Given the description of an element on the screen output the (x, y) to click on. 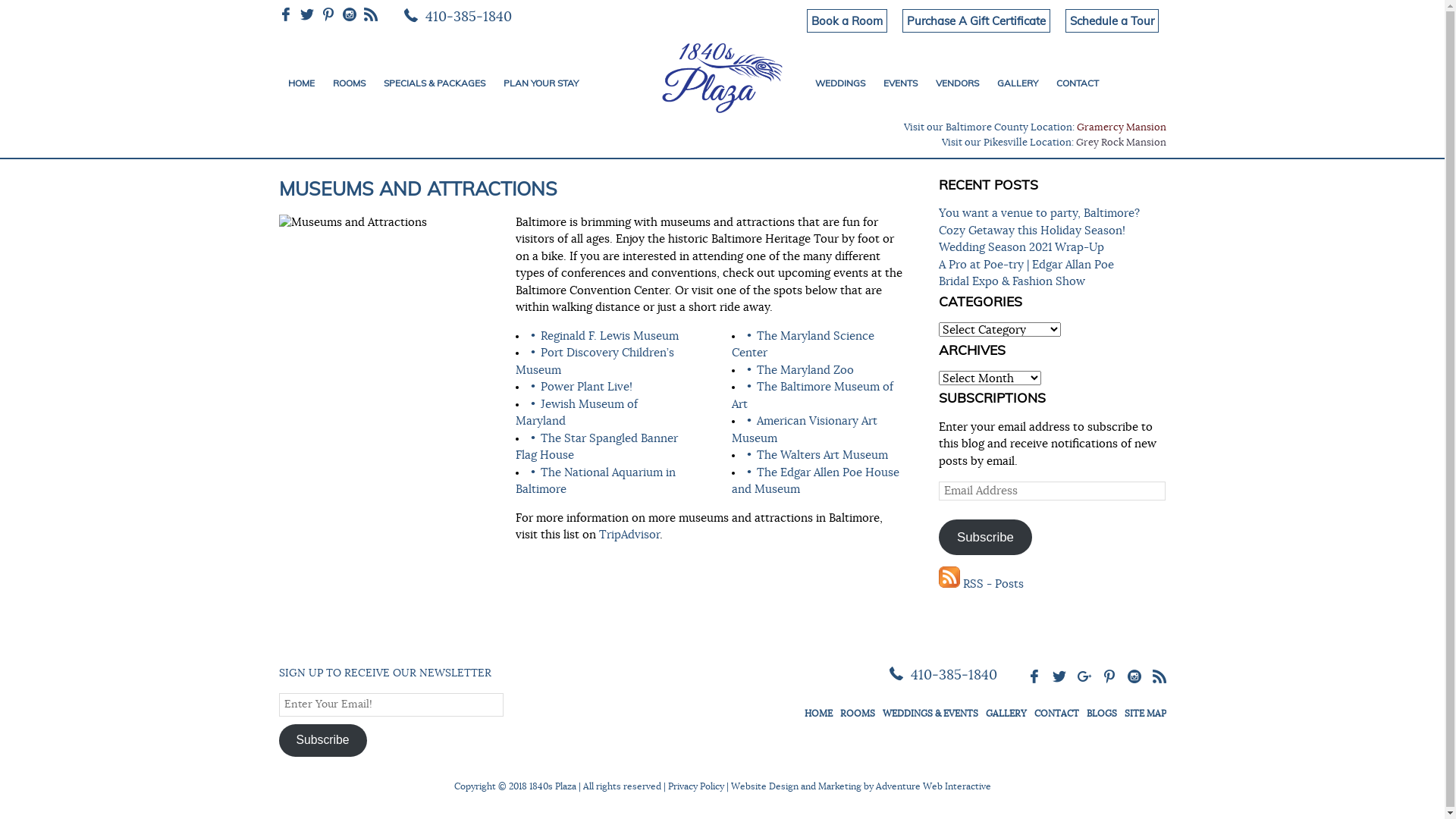
Subscribe Element type: text (985, 537)
EVENTS Element type: text (899, 83)
ROOMS Element type: text (348, 83)
Jewish Museum of Maryland Element type: text (576, 412)
Schedule a Tour Element type: text (1110, 20)
Wedding Season 2021 Wrap-Up Element type: text (1021, 247)
WEDDINGS Element type: text (839, 83)
PLAN YOUR STAY Element type: text (540, 83)
Power Plant Live! Element type: text (586, 386)
Visit our Pikesville Location: Grey Rock Mansion Element type: text (1053, 142)
MUSEUMS AND ATTRACTIONS Element type: text (418, 188)
SPECIALS & PACKAGES Element type: text (434, 83)
 RSS - Posts Element type: text (980, 583)
The Star Spangled Banner Flag House Element type: text (596, 446)
Cozy Getaway this Holiday Season! Element type: text (1031, 230)
American Visionary Art Museum Element type: text (804, 429)
ROOMS Element type: text (857, 712)
HOME Element type: text (817, 712)
CONTACT Element type: text (1076, 83)
The Walters Art Museum Element type: text (822, 455)
SITE MAP Element type: text (1144, 712)
You want a venue to party, Baltimore? Element type: text (1038, 213)
The Maryland Science Center Element type: text (802, 344)
BLOGS Element type: text (1100, 712)
TripAdvisor Element type: text (629, 534)
The Baltimore Museum of Art Element type: text (812, 395)
Book a Room Element type: text (846, 20)
Privacy Policy Element type: text (695, 785)
The Edgar Allen Poe House and Museum Element type: text (815, 481)
CONTACT Element type: text (1056, 712)
Reginald F. Lewis Museum Element type: text (609, 336)
The Maryland Zoo Element type: text (804, 369)
1840s Plaza Element type: hover (722, 74)
VENDORS Element type: text (957, 83)
HOME Element type: text (301, 83)
WEDDINGS & EVENTS Element type: text (930, 712)
GALLERY Element type: text (1005, 712)
A Pro at Poe-try | Edgar Allan Poe Element type: text (1025, 264)
GALLERY Element type: text (1016, 83)
Bridal Expo & Fashion Show Element type: text (1011, 281)
Purchase A Gift Certificate Element type: text (976, 20)
The National Aquarium in Baltimore Element type: text (595, 481)
Visit our Baltimore County Location: Gramercy Mansion Element type: text (1034, 127)
Subscribe Element type: text (323, 739)
